Given the description of an element on the screen output the (x, y) to click on. 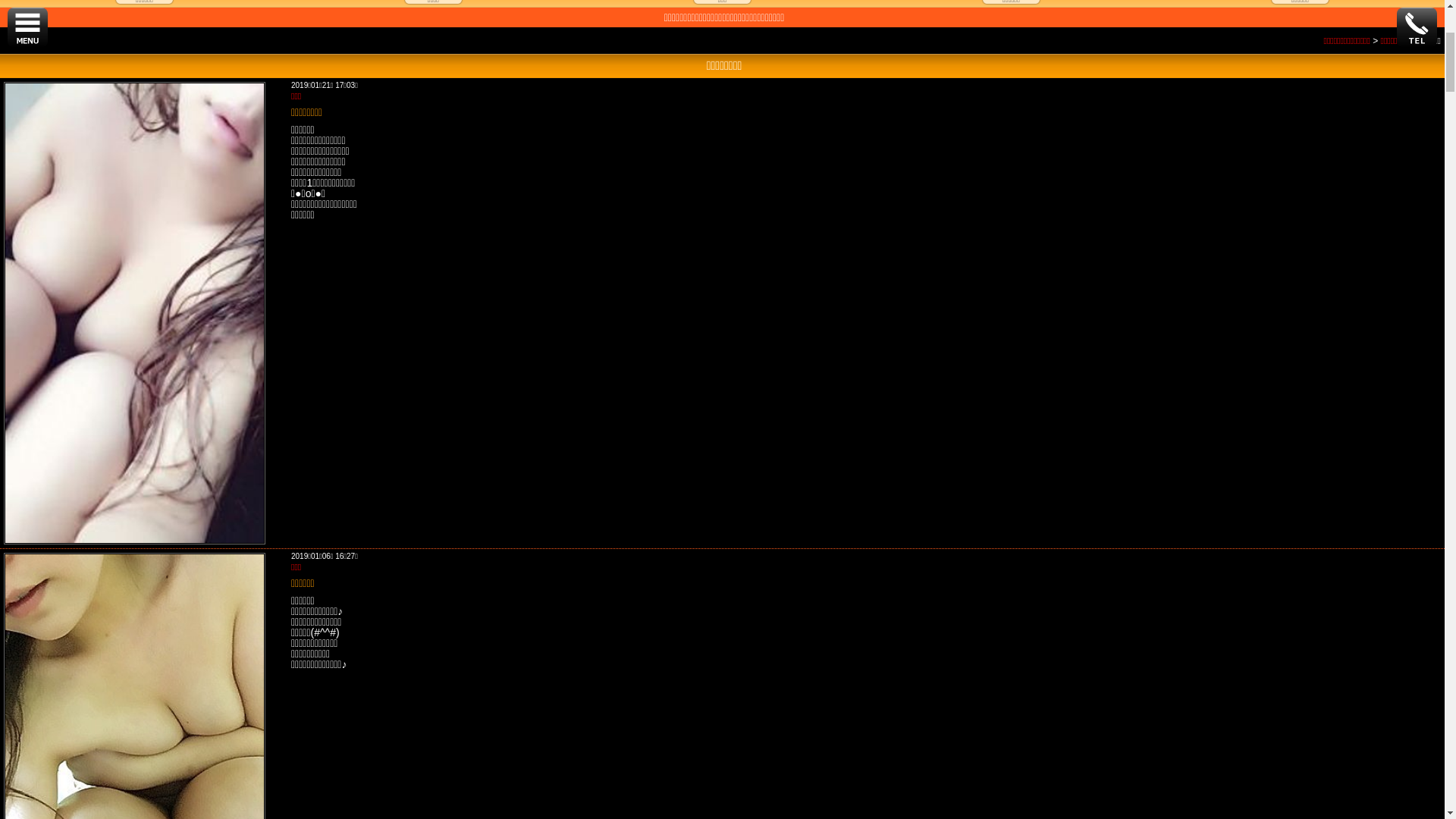
TOP Element type: text (144, 195)
